Given the description of an element on the screen output the (x, y) to click on. 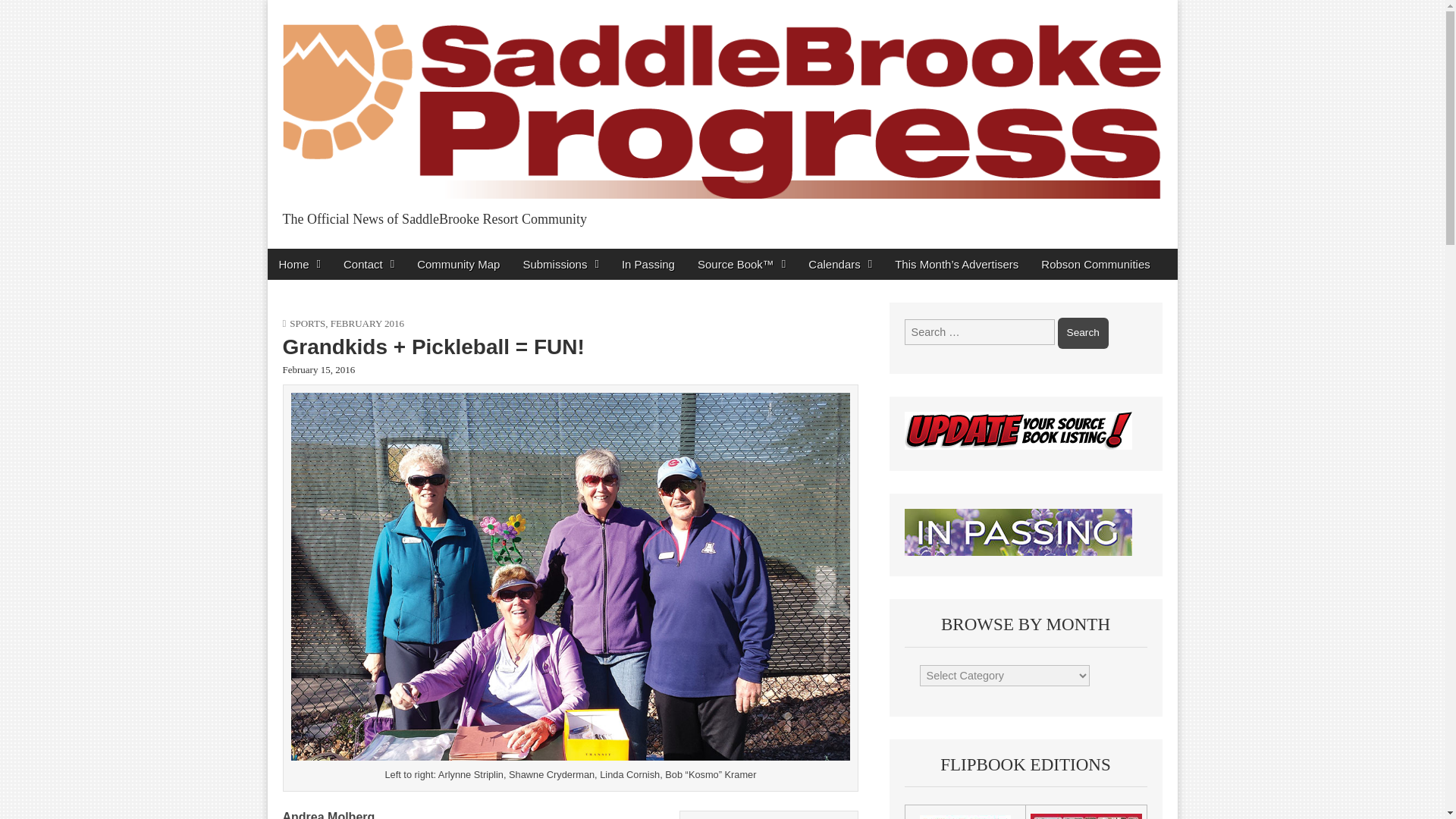
Home (298, 264)
Calendars (839, 264)
SaddleBrooke Progress (452, 252)
Search (1083, 332)
SPORTS (306, 323)
Robson Communities (1094, 264)
Community Map (458, 264)
Submissions (560, 264)
SaddleBrooke Progress (452, 252)
FEBRUARY 2016 (367, 323)
In Passing (647, 264)
Contact (368, 264)
